Given the description of an element on the screen output the (x, y) to click on. 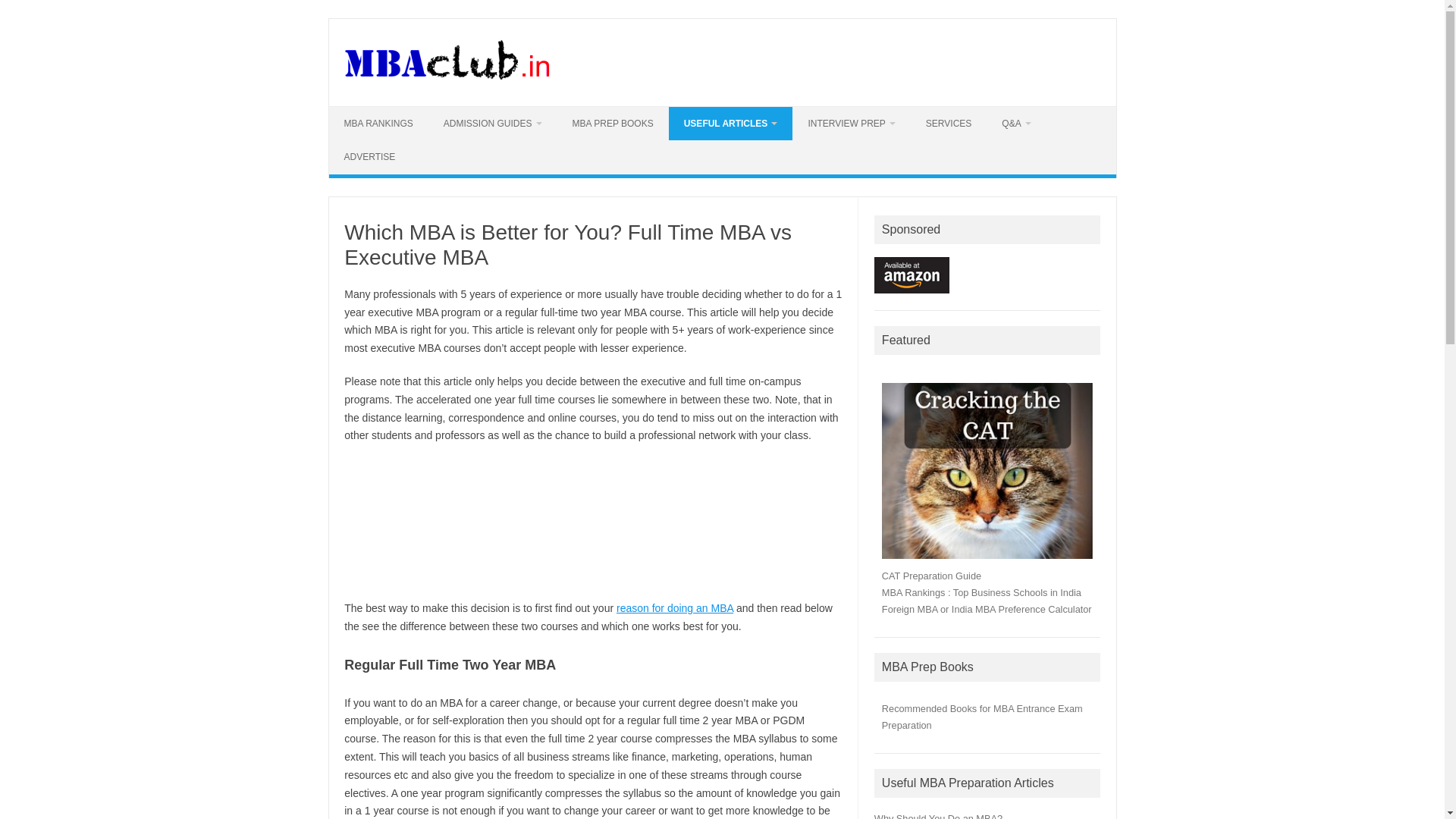
Advertisement (592, 522)
USEFUL ARTICLES (730, 123)
Best Books for MBA Entrance Exam Preparation (612, 123)
MBA Interview Preparation (851, 123)
MBA RANKINGS (378, 123)
SERVICES (949, 123)
INTERVIEW PREP (851, 123)
ADMISSION GUIDES (492, 123)
MBA Admission and Preparation Tips (446, 80)
Useful MBA Articles (730, 123)
MBA PREP BOOKS (612, 123)
MBA Career Counselling and Admission Services by IIM Alumni (949, 123)
MBA Admission Guides (492, 123)
